Given the description of an element on the screen output the (x, y) to click on. 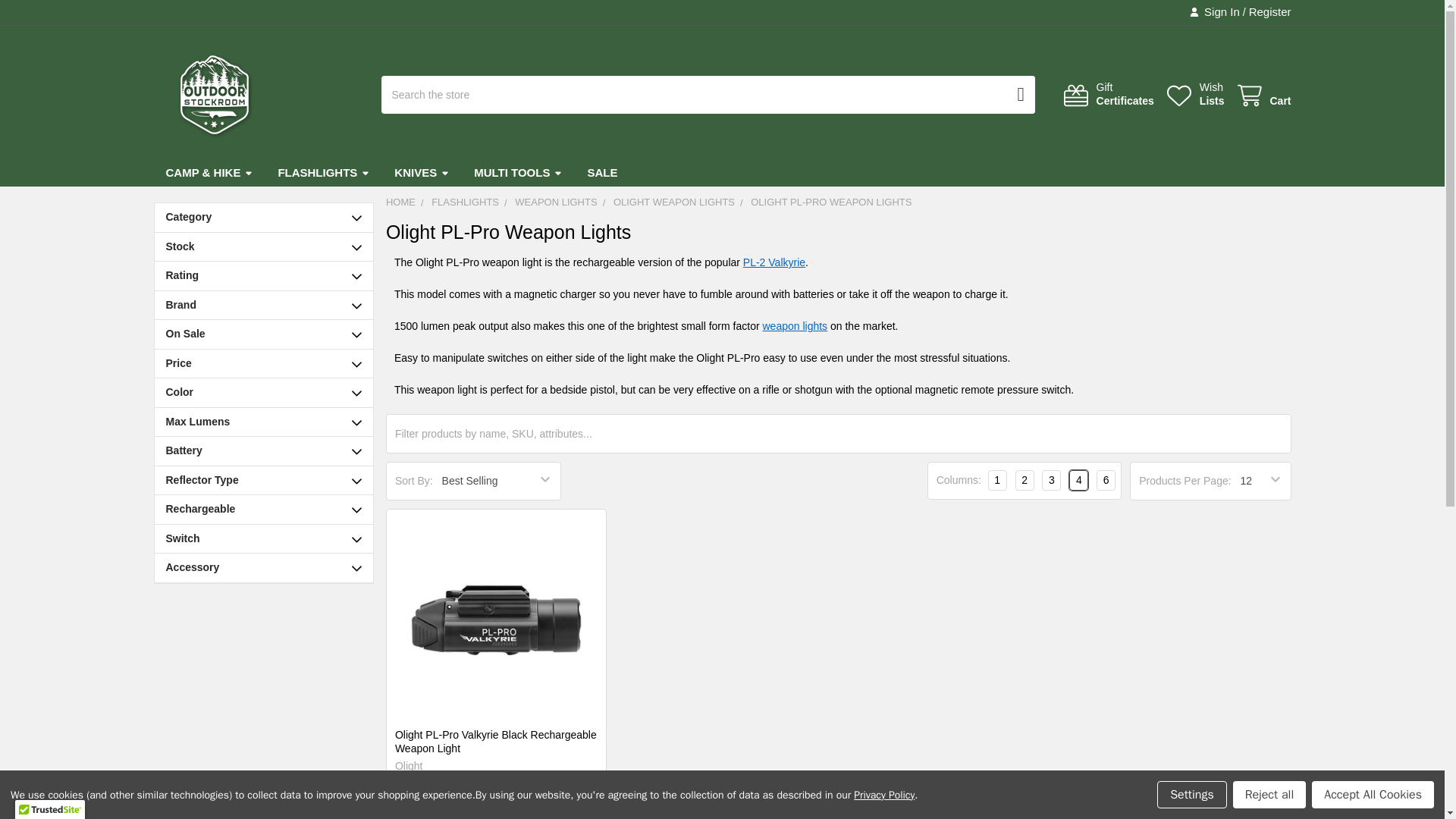
Search (1013, 94)
Cart (1262, 95)
Cart (1194, 94)
4 (1262, 95)
Gift Certificates (322, 172)
Sign In (1107, 94)
Outdoor Stockroom (1213, 12)
Wish Lists (213, 94)
Search (1194, 94)
Register (1013, 94)
